Given the description of an element on the screen output the (x, y) to click on. 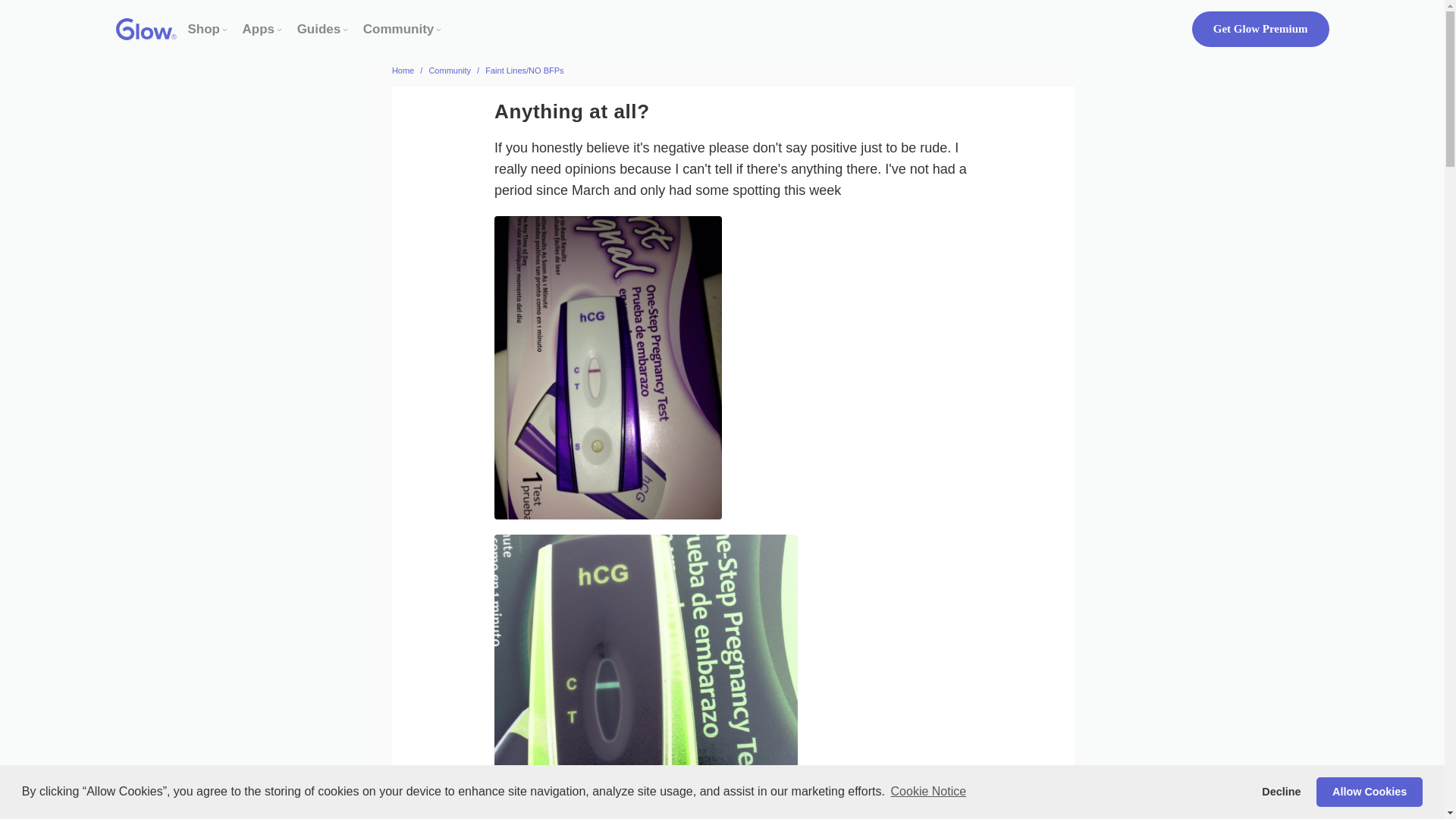
Allow Cookies (1369, 791)
Decline (1281, 791)
Guides (318, 28)
Shop (204, 28)
Glow Community (397, 28)
Apps (259, 28)
Cookie Notice (928, 791)
Glow Shop (204, 28)
